Given the description of an element on the screen output the (x, y) to click on. 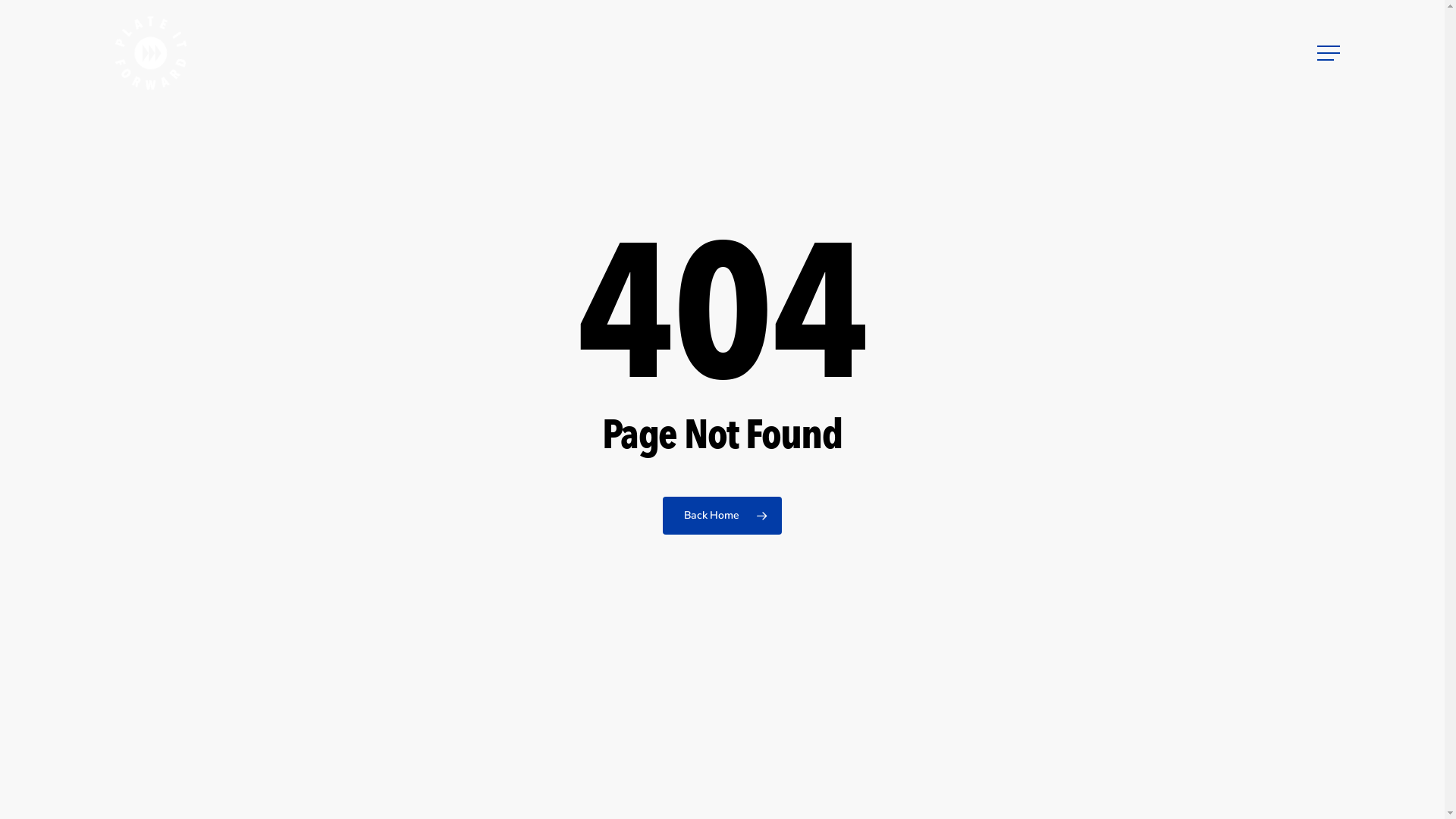
Back Home Element type: text (721, 515)
Menu Element type: text (1330, 53)
